Given the description of an element on the screen output the (x, y) to click on. 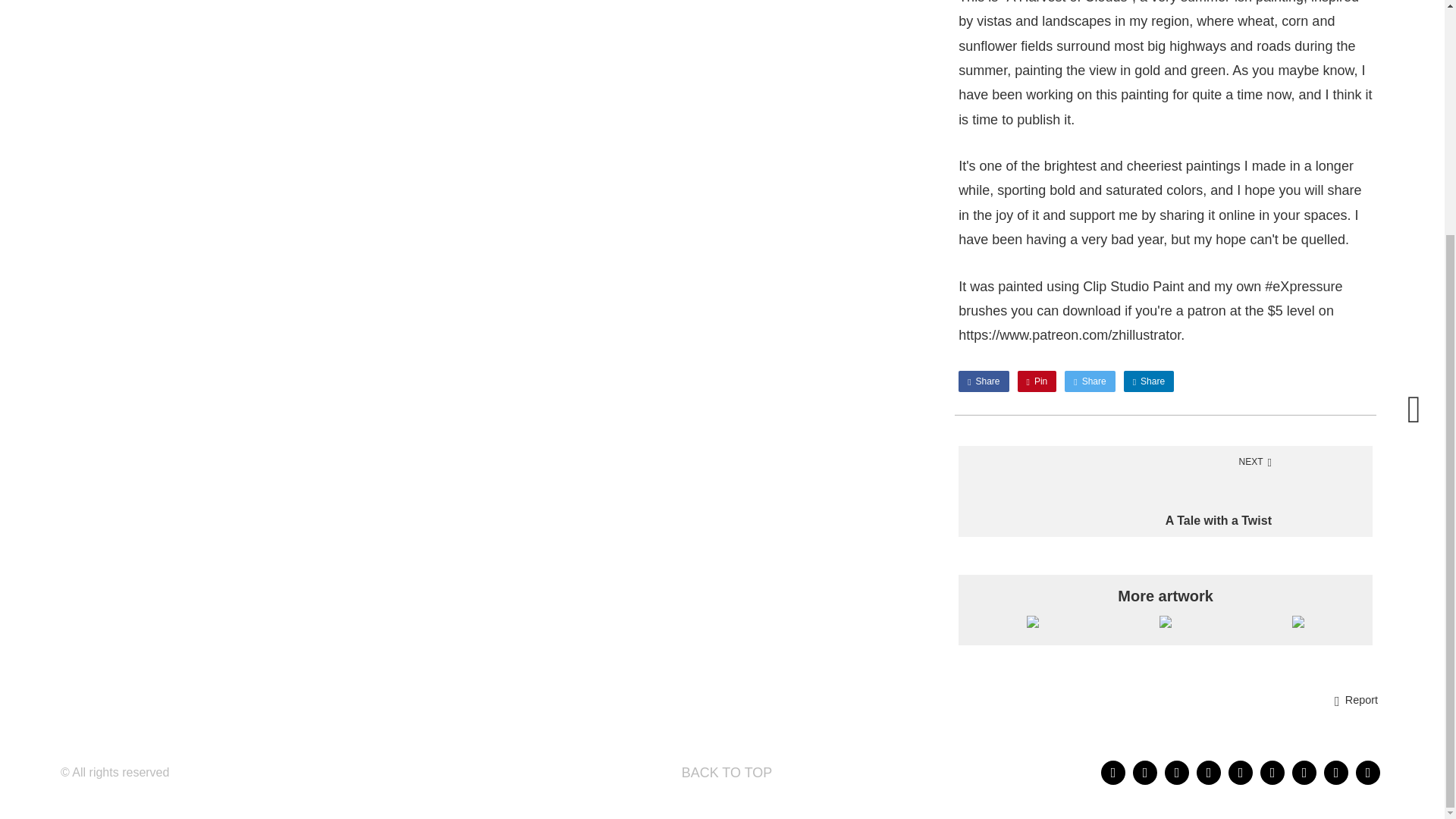
Share (1089, 381)
Share (1148, 381)
BACK TO TOP (722, 772)
BACK TO TOP (722, 772)
Report (1355, 700)
Share (1165, 491)
Pin (983, 381)
